Given the description of an element on the screen output the (x, y) to click on. 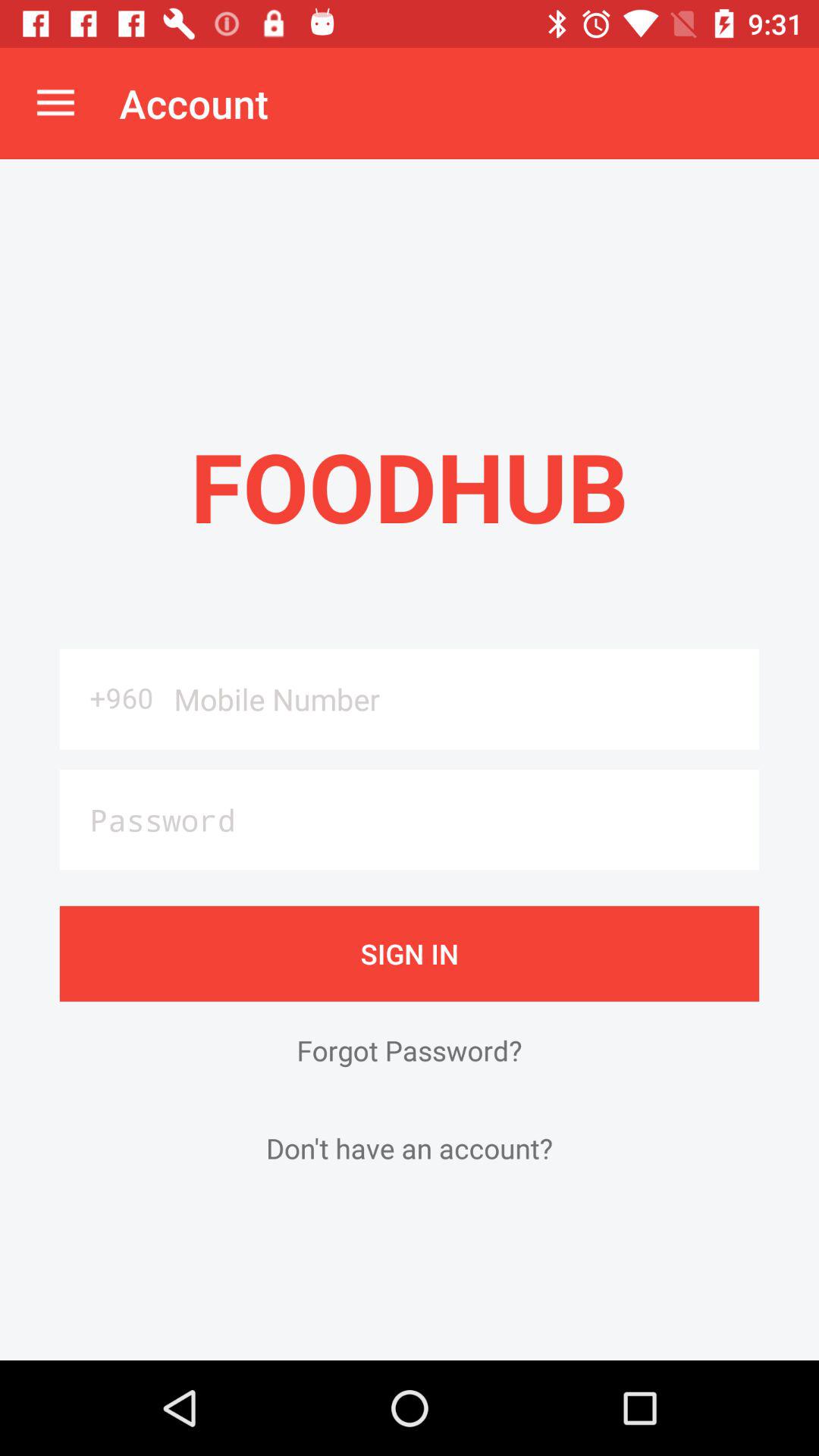
jump until the forgot password? icon (409, 1050)
